Given the description of an element on the screen output the (x, y) to click on. 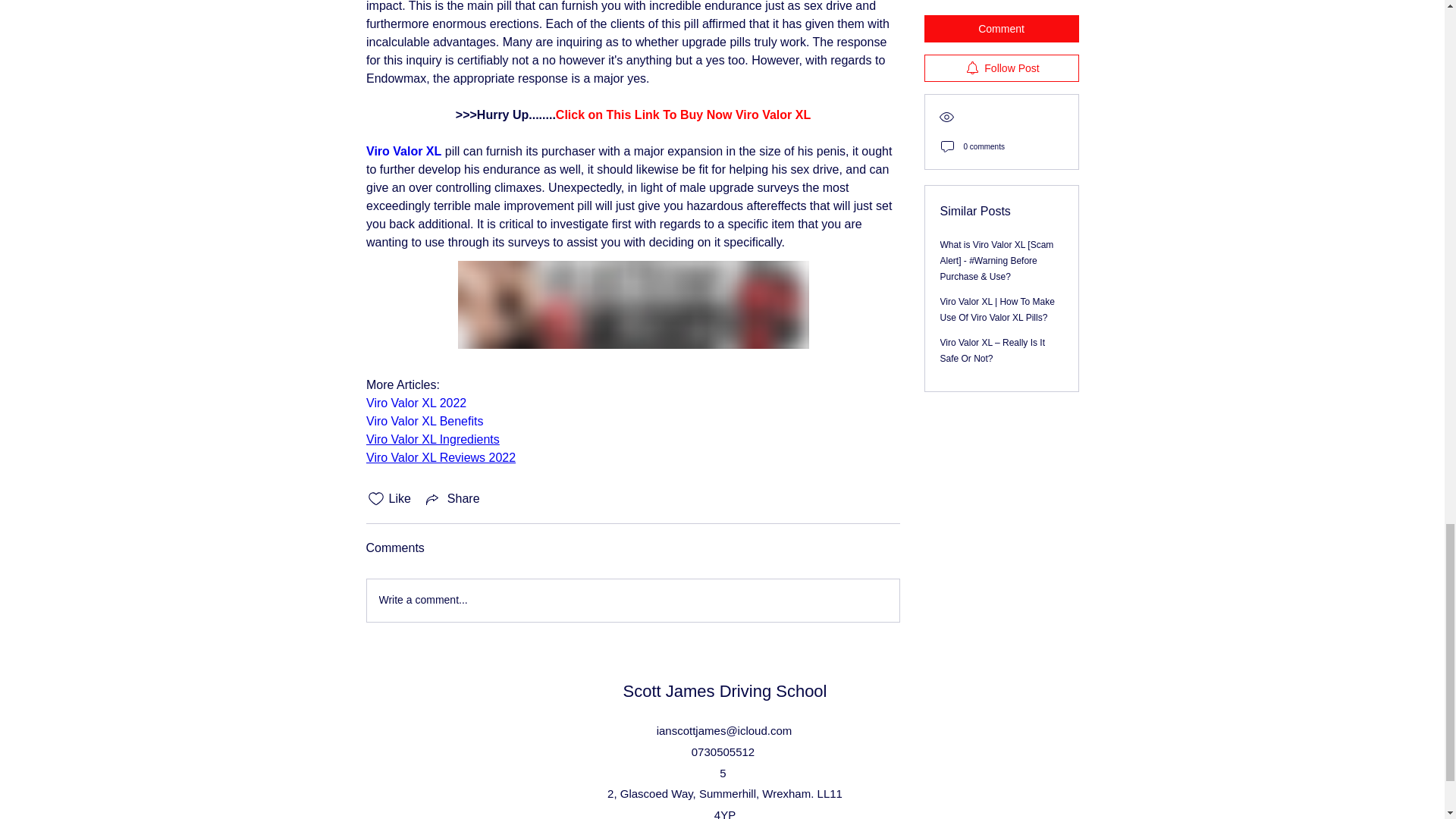
Scott James Driving School (725, 691)
Viro Valor XL Reviews 2022 (440, 457)
Write a comment... (632, 600)
Viro Valor XL (403, 151)
Viro Valor XL Benefits (423, 420)
Viro Valor XL Ingredients (432, 439)
Share (451, 498)
Viro Valor XL 2022 (415, 402)
Click on This Link To Buy Now Viro Valor XL (681, 114)
